Given the description of an element on the screen output the (x, y) to click on. 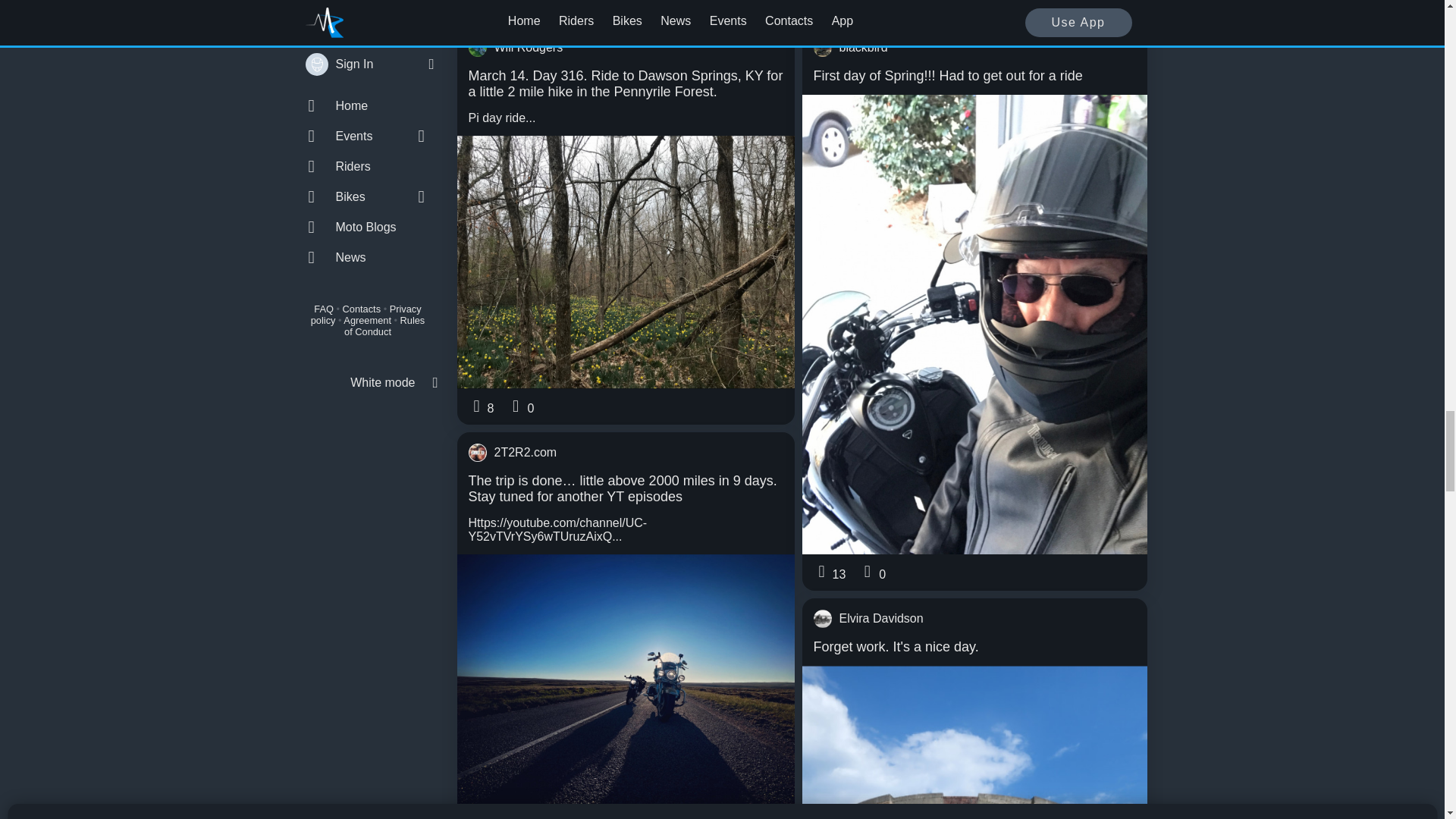
Will Rodgers (625, 47)
2T2R2.com (625, 452)
0 (525, 408)
